Given the description of an element on the screen output the (x, y) to click on. 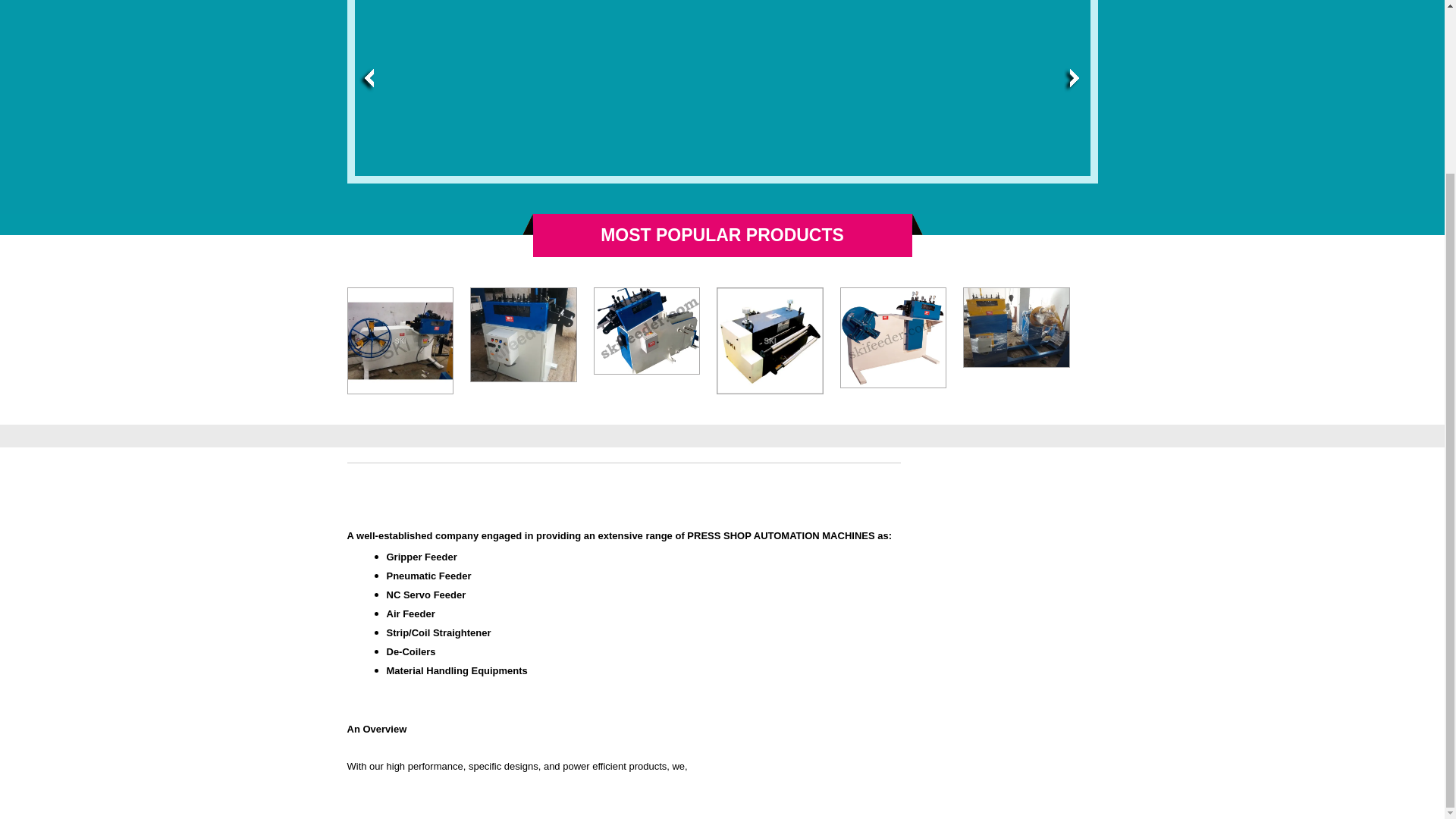
Three In One Decoiler (1015, 327)
Industrial Uncoiler Strip Straightener (400, 333)
NC Feeder Servo Roll Feeder (769, 340)
Precision Straightener (523, 334)
Industrial Uncoiler Strip Straightener (399, 340)
Decoiler Straightener (646, 333)
Precision Straightener (523, 333)
Decoiler Straightener (647, 330)
NC Feeder Servo Roll Feeder (769, 333)
Decoiler Straightening Machines (892, 341)
